Given the description of an element on the screen output the (x, y) to click on. 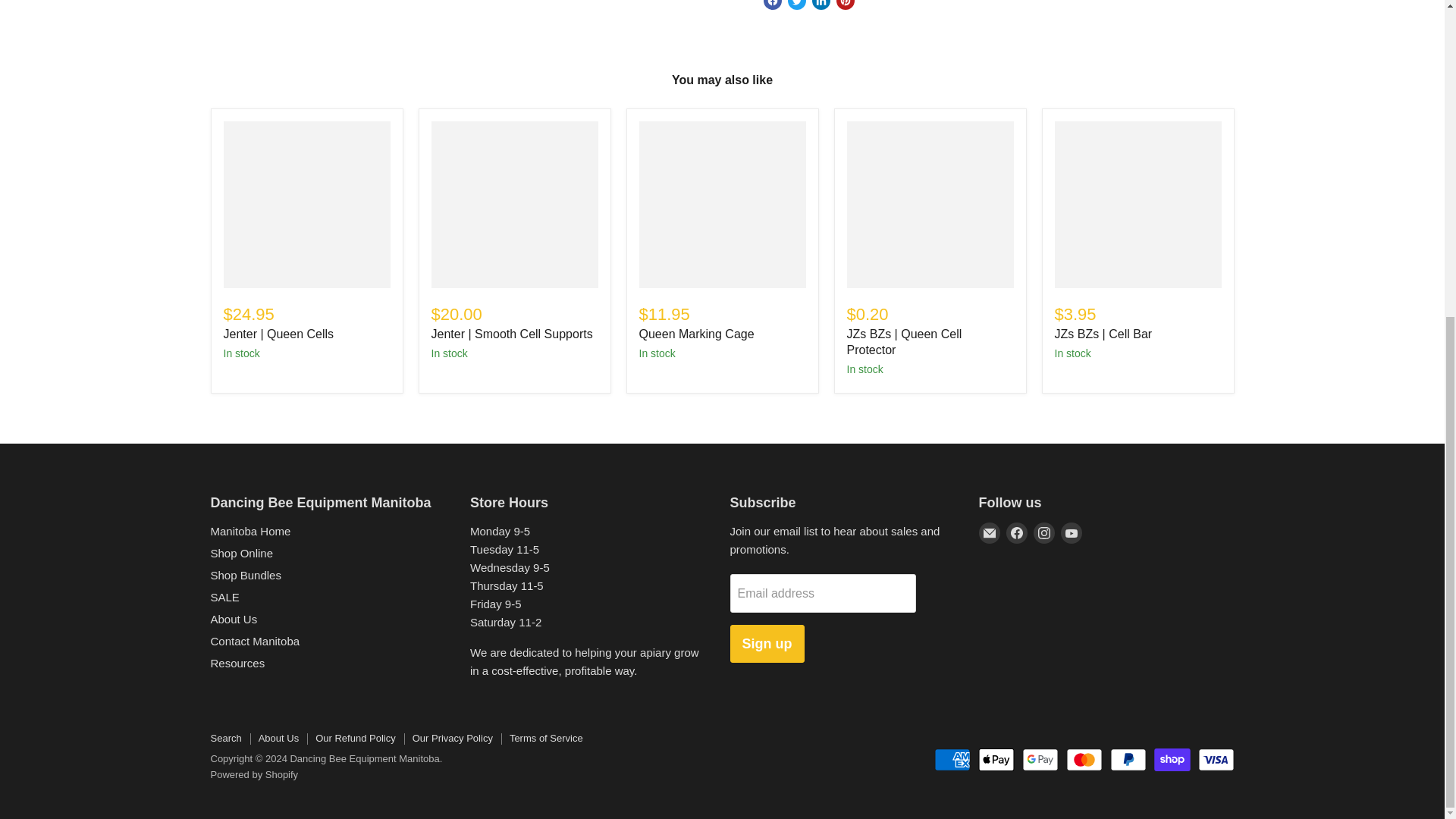
Mastercard (1083, 759)
Google Pay (1040, 759)
Apple Pay (996, 759)
Instagram (1043, 532)
Email (988, 532)
American Express (952, 759)
YouTube (1070, 532)
Facebook (1016, 532)
